Given the description of an element on the screen output the (x, y) to click on. 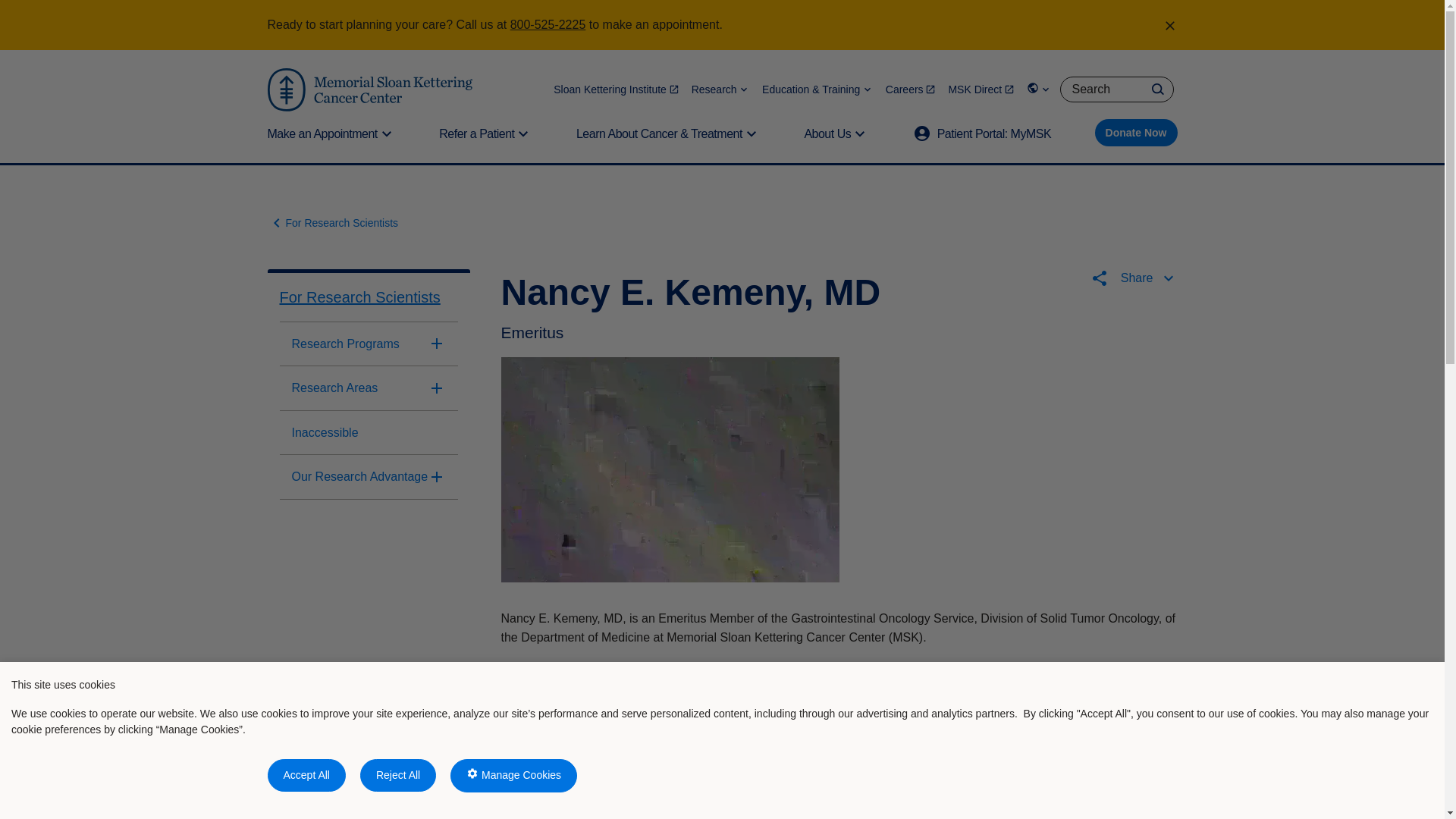
800-525-2225 (548, 24)
Sloan Kettering Institute (615, 89)
Manage Cookies (512, 775)
Donate Now (1135, 132)
Research (720, 89)
Insert a query. Press enter to send (1115, 88)
Accept All (305, 775)
Reject All (397, 775)
